Given the description of an element on the screen output the (x, y) to click on. 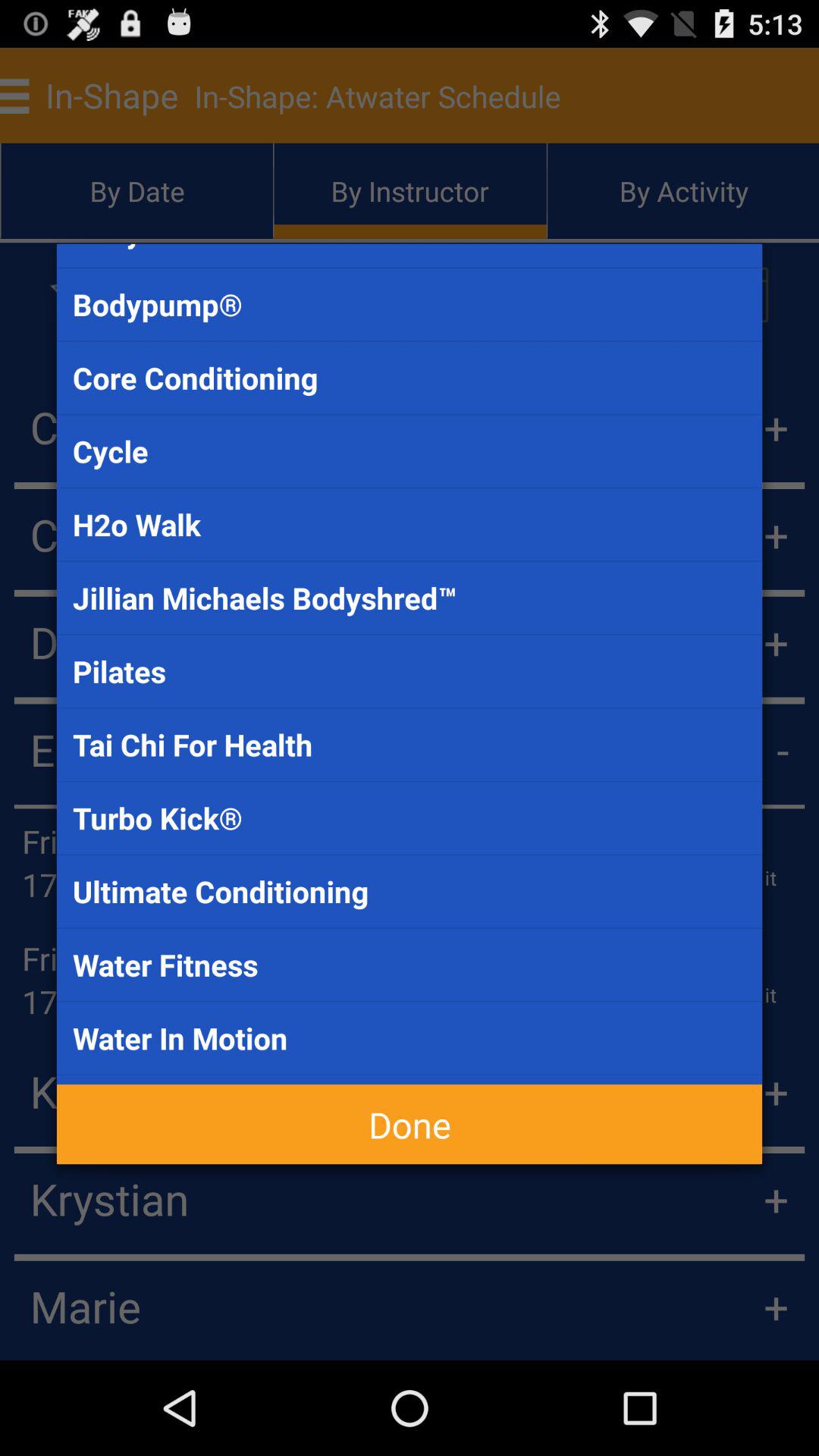
turn on app below the core conditioning item (409, 451)
